Given the description of an element on the screen output the (x, y) to click on. 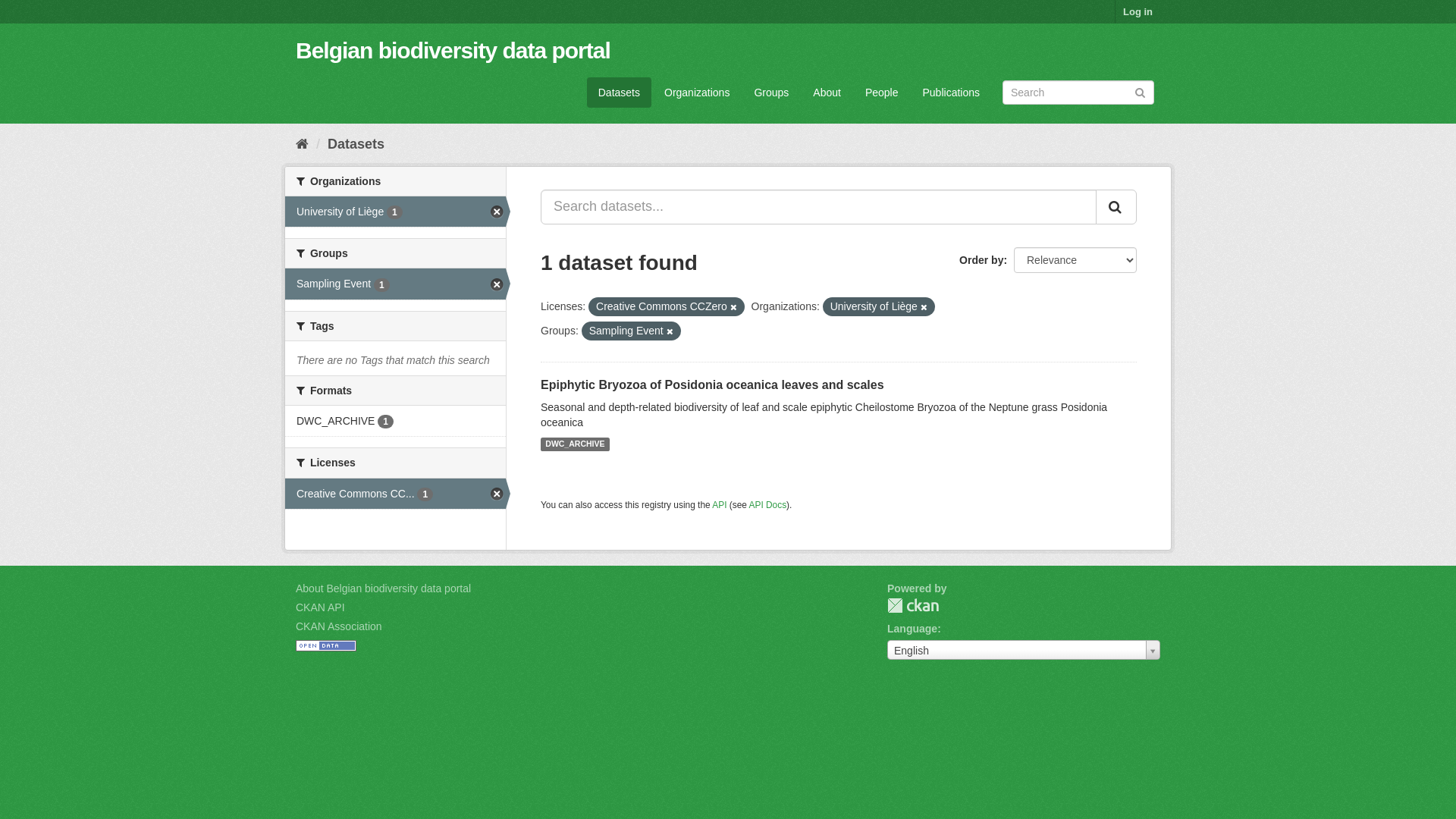
Remove Element type: hover (669, 330)
search Element type: text (1115, 206)
Remove Element type: hover (733, 306)
Groups Element type: text (771, 92)
CKAN API Element type: text (320, 606)
Publications Element type: text (951, 92)
Epiphytic Bryozoa of Posidonia oceanica leaves and scales Element type: text (712, 384)
Organizations Element type: text (696, 92)
About Element type: text (826, 92)
Belgian biodiversity data portal Element type: text (452, 49)
Datasets Element type: text (618, 92)
Datasets Element type: text (355, 143)
DWC_ARCHIVE 1 Element type: text (395, 420)
CKAN Element type: text (912, 605)
Log in Element type: text (1137, 11)
Sampling Event 1 Element type: text (395, 283)
Remove Element type: hover (923, 306)
CKAN Association Element type: text (338, 626)
Creative Commons CC... 1 Element type: text (395, 493)
About Belgian biodiversity data portal Element type: text (382, 588)
API Docs Element type: text (768, 503)
English Element type: text (1023, 649)
People Element type: text (881, 92)
API Element type: text (719, 503)
DWC_ARCHIVE Element type: text (574, 443)
